Given the description of an element on the screen output the (x, y) to click on. 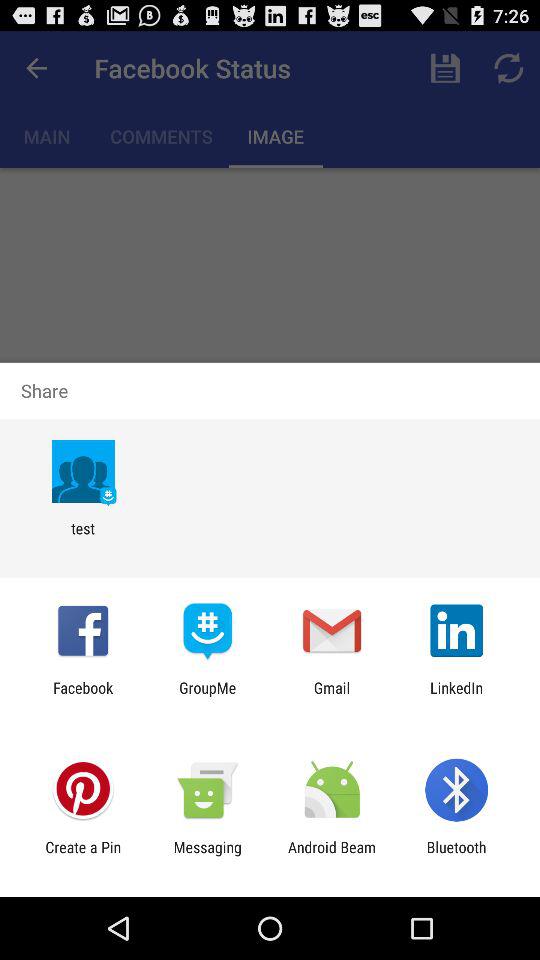
tap icon next to the bluetooth (332, 856)
